Given the description of an element on the screen output the (x, y) to click on. 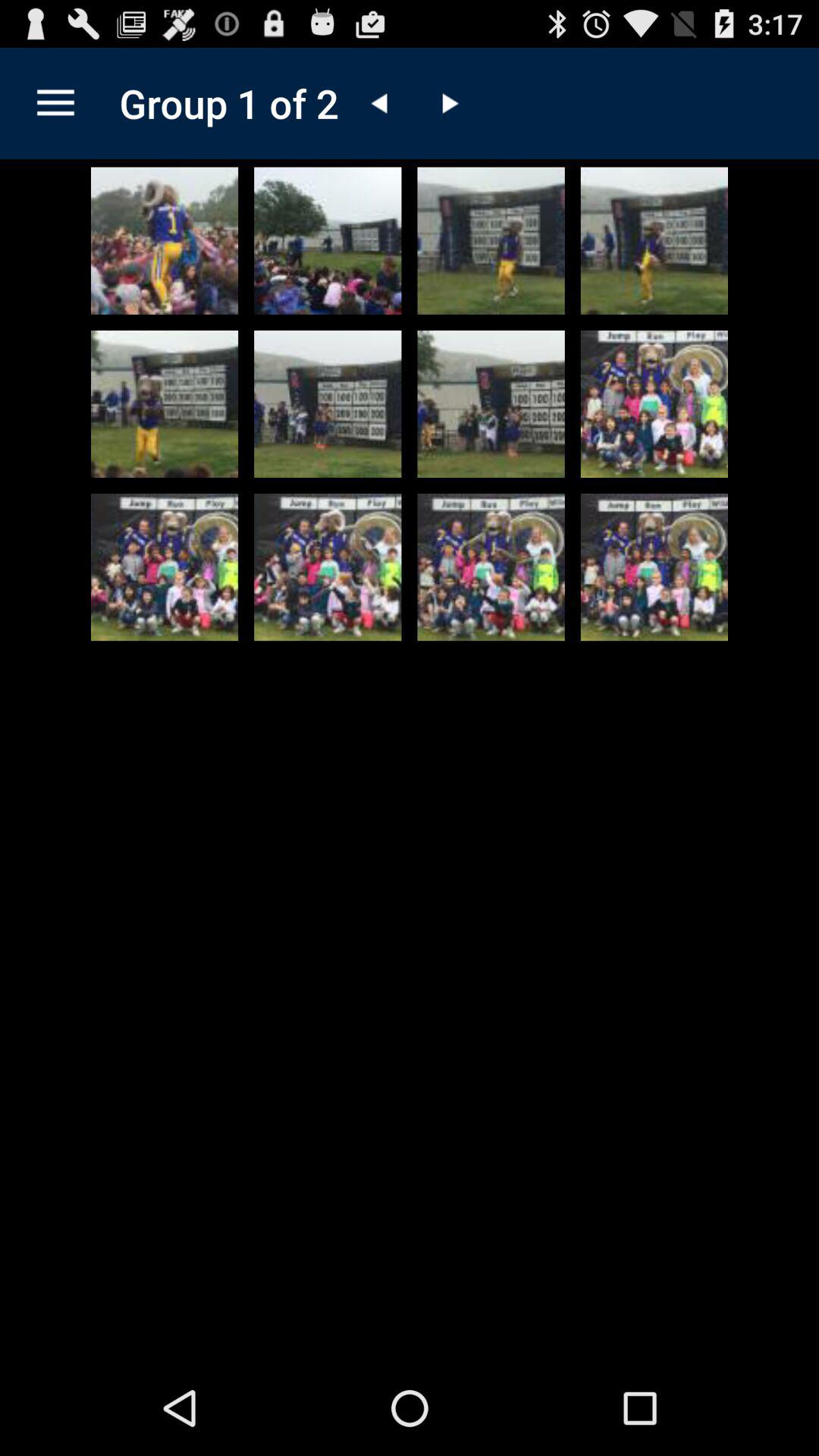
press the item next to the group 1 of (55, 103)
